Given the description of an element on the screen output the (x, y) to click on. 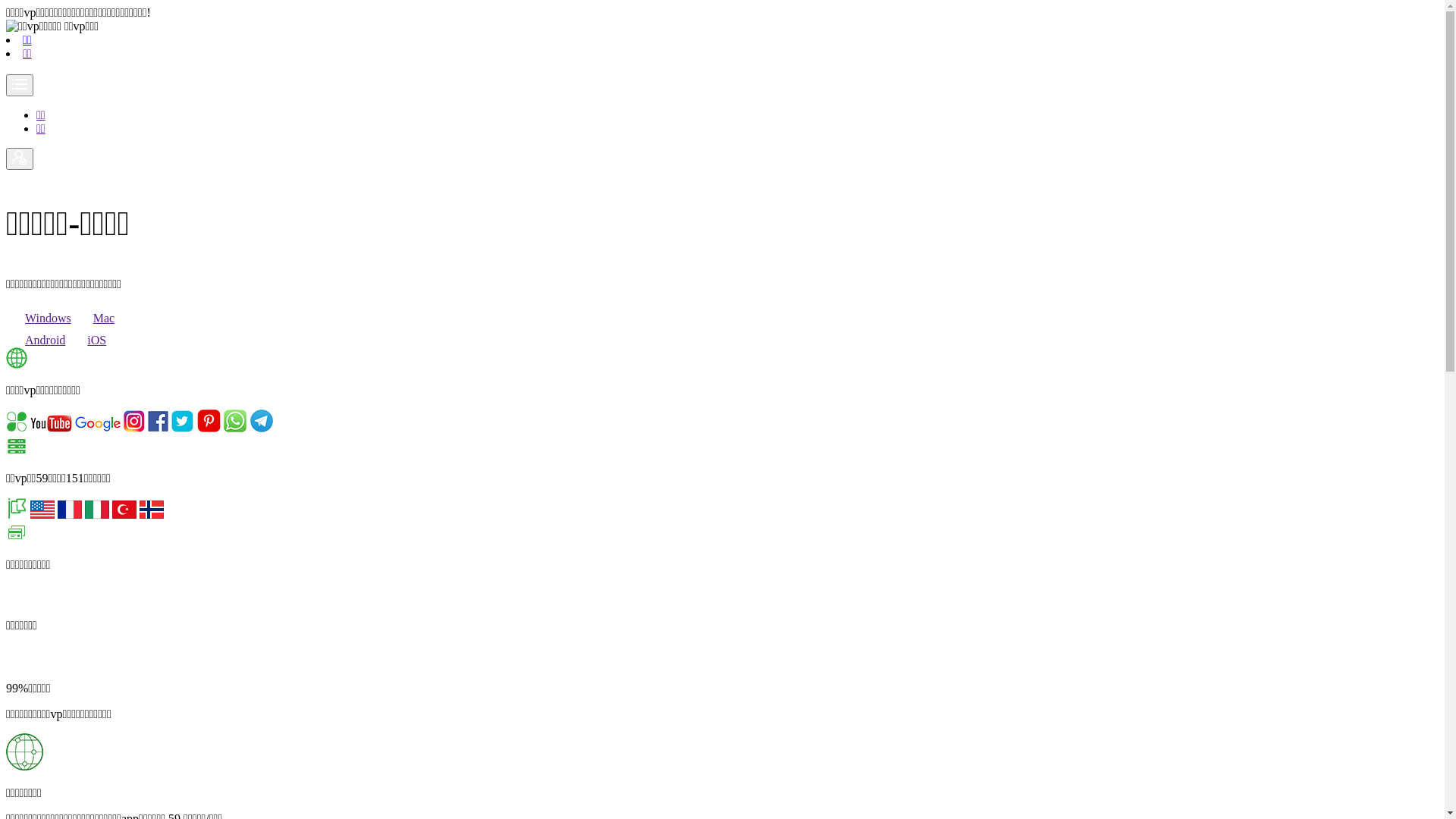
Mac Element type: text (94, 317)
iOS Element type: text (87, 339)
Android Element type: text (35, 339)
Windows Element type: text (38, 317)
